Given the description of an element on the screen output the (x, y) to click on. 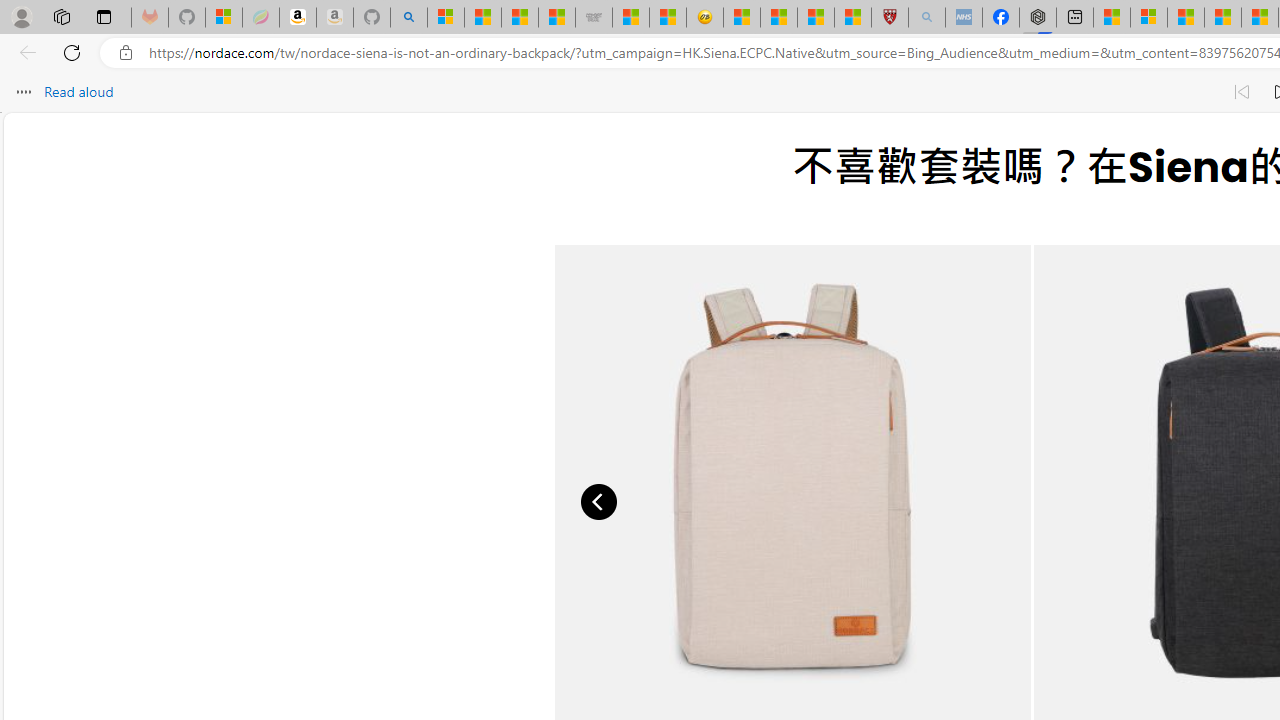
Recipes - MSN (742, 17)
Combat Siege (593, 17)
12 Popular Science Lies that Must be Corrected (852, 17)
Read previous paragraph (1241, 92)
Class: flickity-button-icon (599, 502)
